Given the description of an element on the screen output the (x, y) to click on. 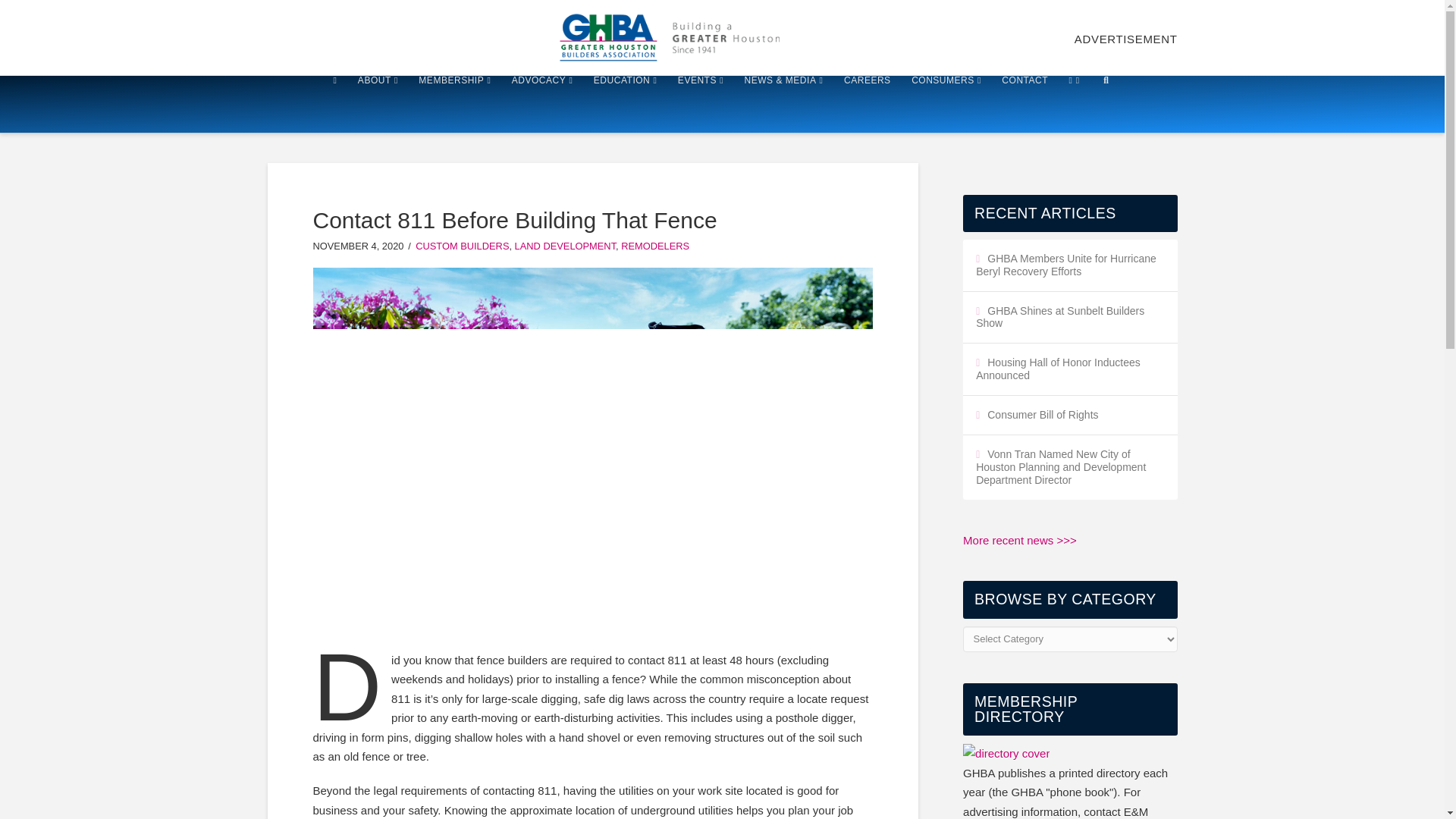
MEMBERSHIP (453, 104)
ABOUT (378, 104)
